Given the description of an element on the screen output the (x, y) to click on. 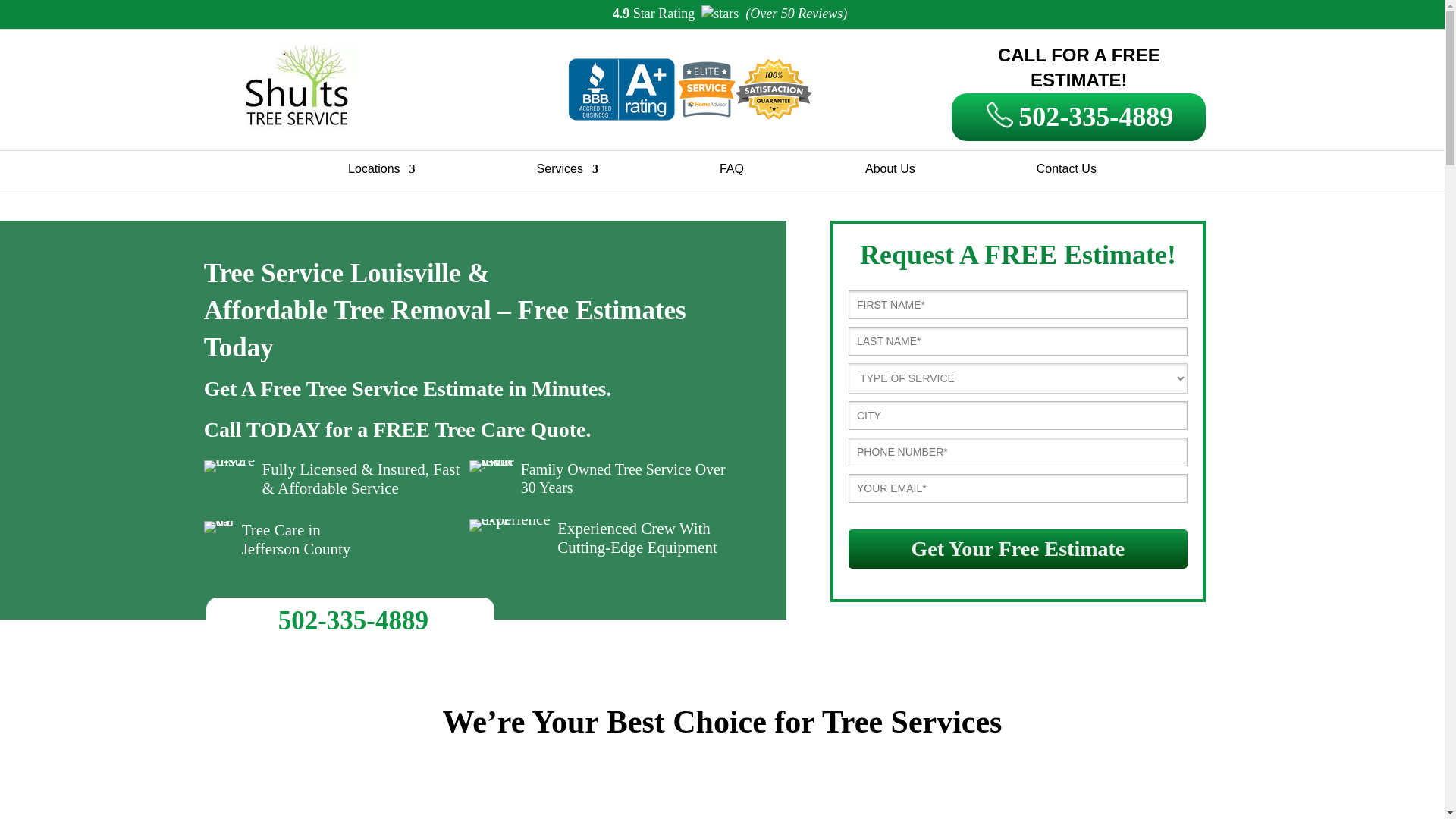
502-335-4889 (353, 620)
Locations (380, 172)
About Us (889, 172)
Contact Us (1066, 172)
logos (689, 89)
502-335-4889 (1078, 116)
Get Your Free Estimate (1018, 548)
Services (567, 172)
